Given the description of an element on the screen output the (x, y) to click on. 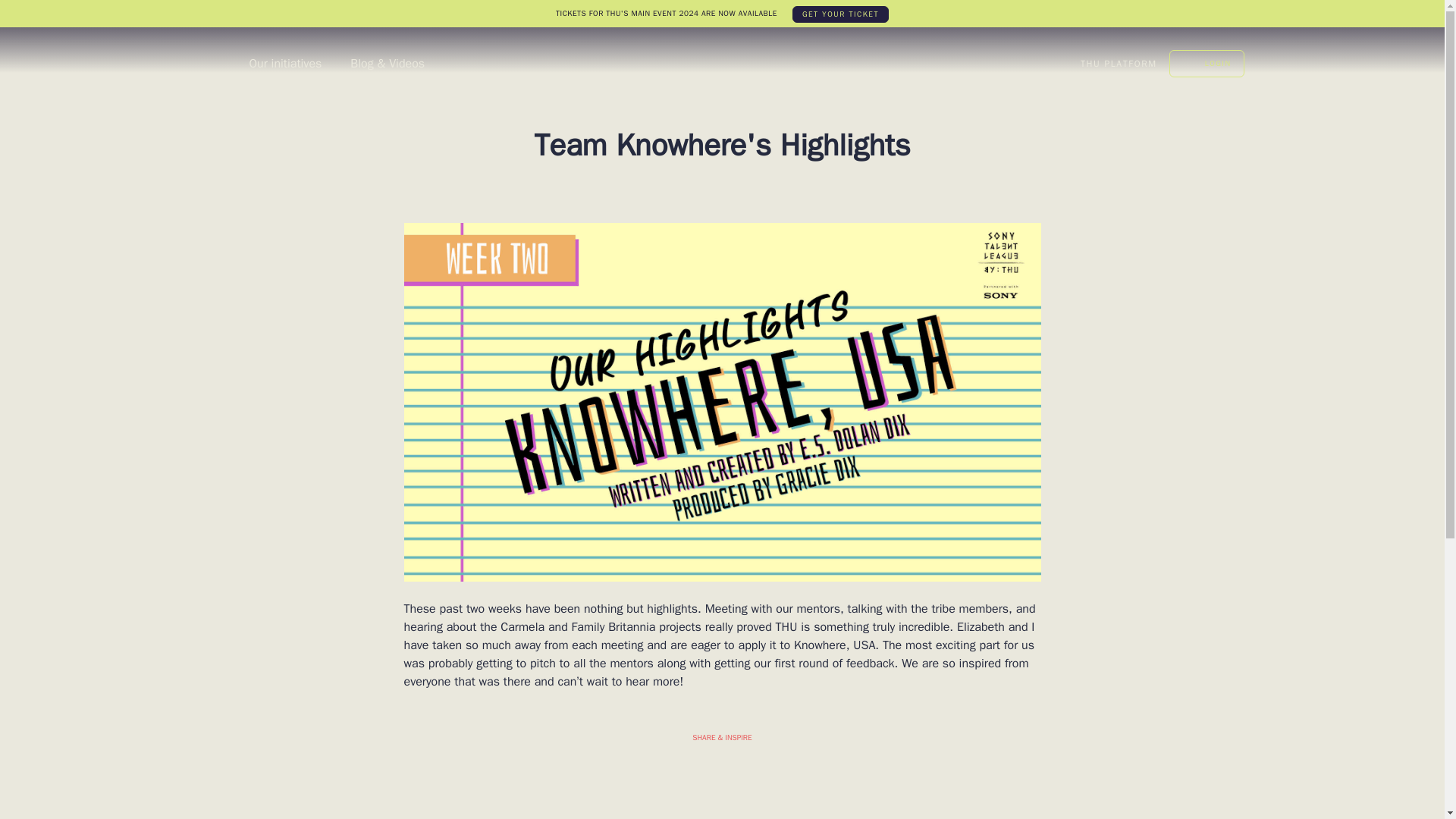
GET YOUR TICKET (840, 13)
Twitter (1156, 62)
Twitter (731, 197)
Facebook (731, 757)
Facebook (713, 197)
